Given the description of an element on the screen output the (x, y) to click on. 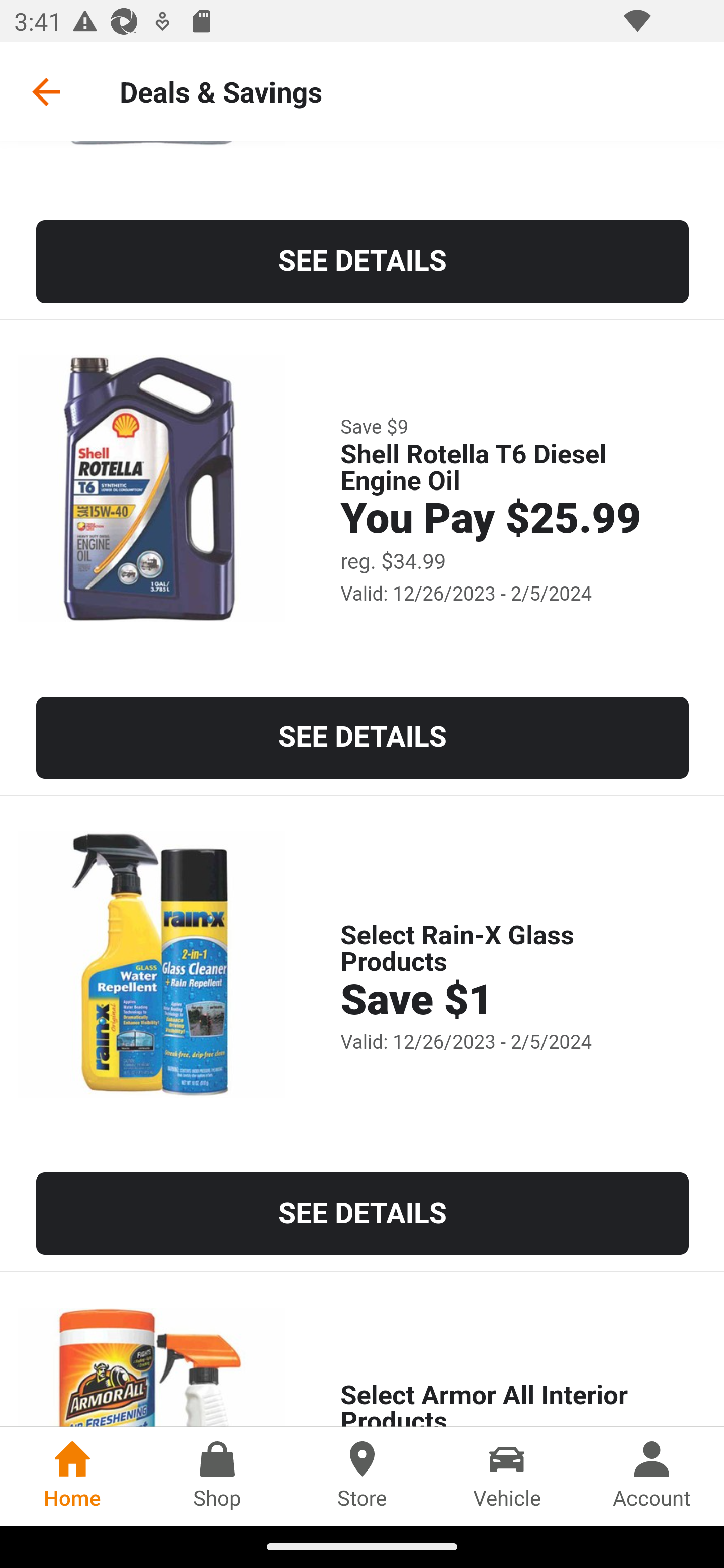
Go back (45, 91)
Home (72, 1475)
Shop (216, 1475)
Store (361, 1475)
Vehicle (506, 1475)
Account (651, 1475)
